Given the description of an element on the screen output the (x, y) to click on. 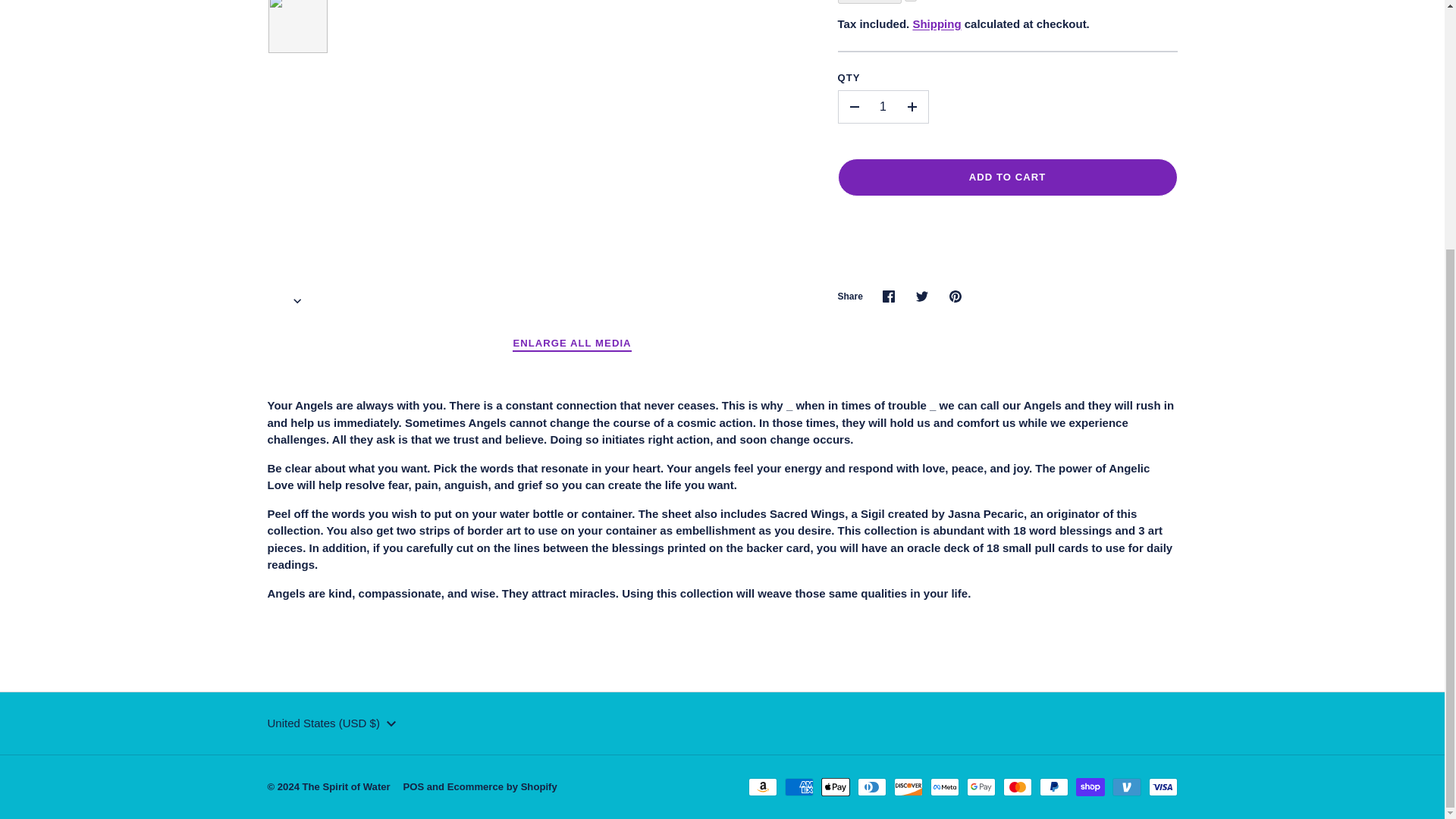
Down (390, 723)
1 (883, 106)
